Given the description of an element on the screen output the (x, y) to click on. 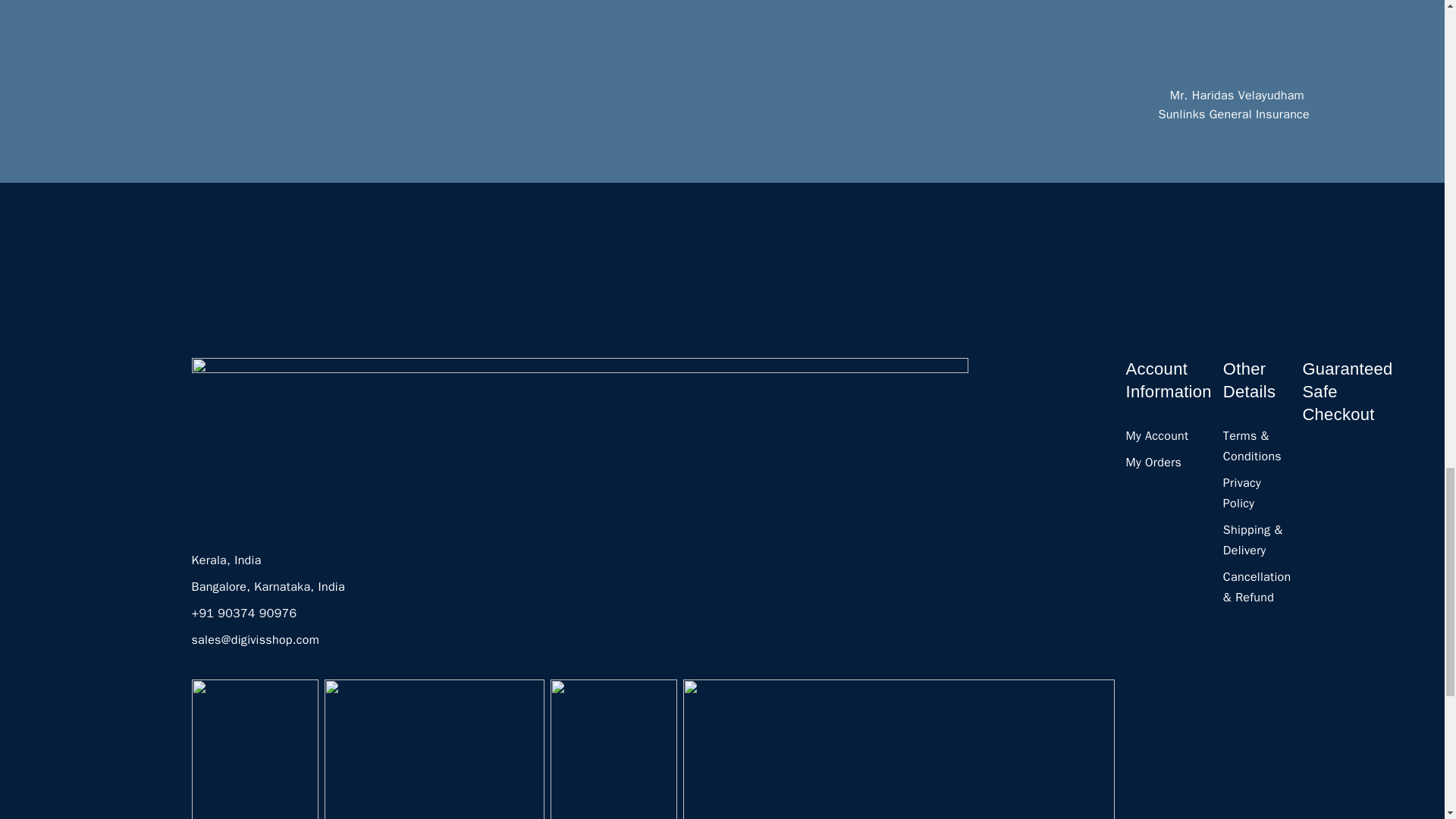
My Account (1156, 435)
Privacy Policy (1241, 493)
Kerala, India (225, 560)
Bangalore, Karnataka, India (266, 586)
My Orders (1152, 462)
